Given the description of an element on the screen output the (x, y) to click on. 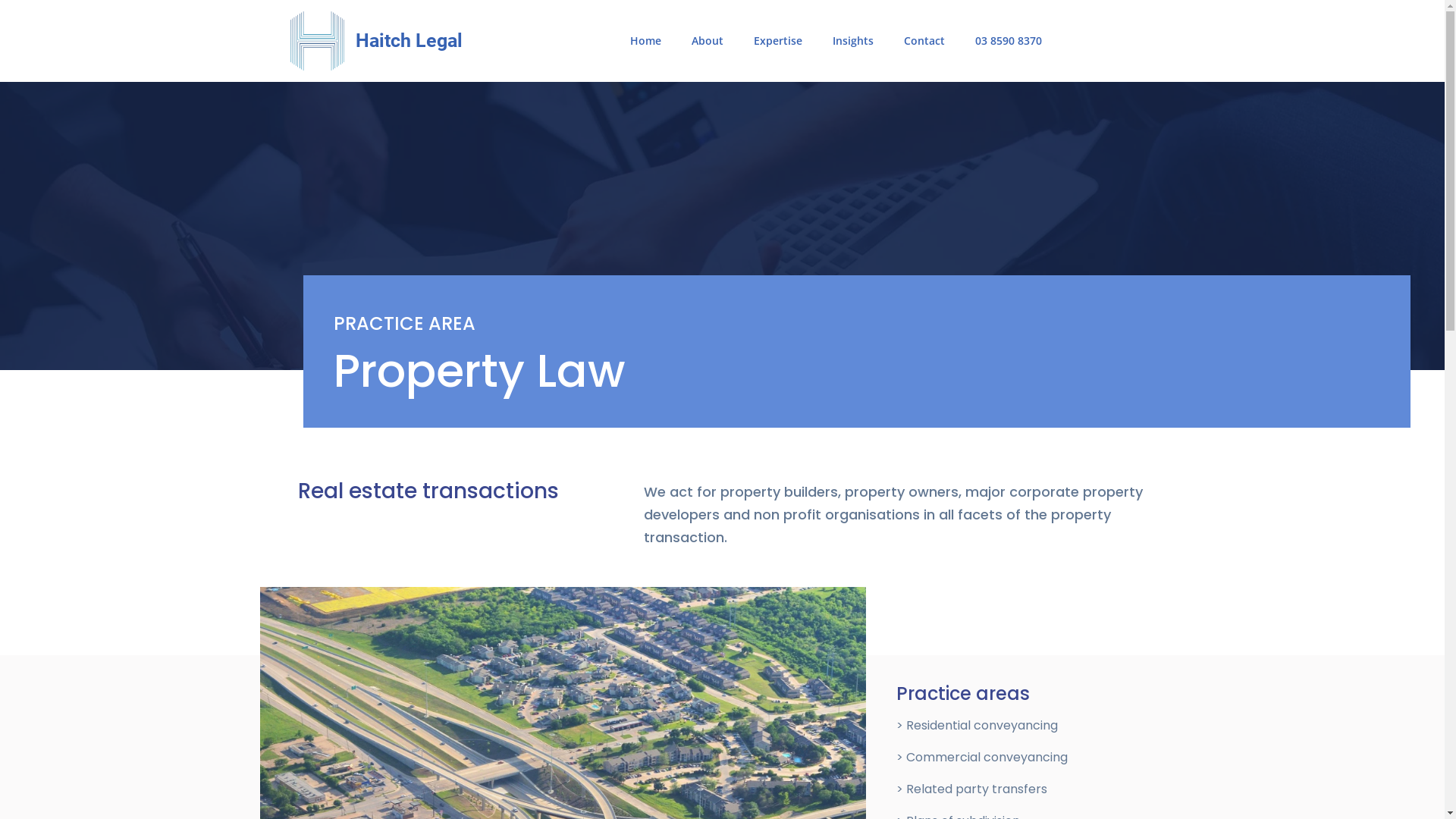
Insights Element type: text (852, 40)
Contact Element type: text (924, 40)
Haitch Legal Element type: text (408, 40)
> Commercial conveyancing Element type: text (981, 756)
03 8590 8370 Element type: text (1008, 40)
About Element type: text (707, 40)
Home Element type: text (645, 40)
> Related party transfers Element type: text (971, 788)
> Residential conveyancing Element type: text (976, 725)
Expertise Element type: text (777, 40)
